Given the description of an element on the screen output the (x, y) to click on. 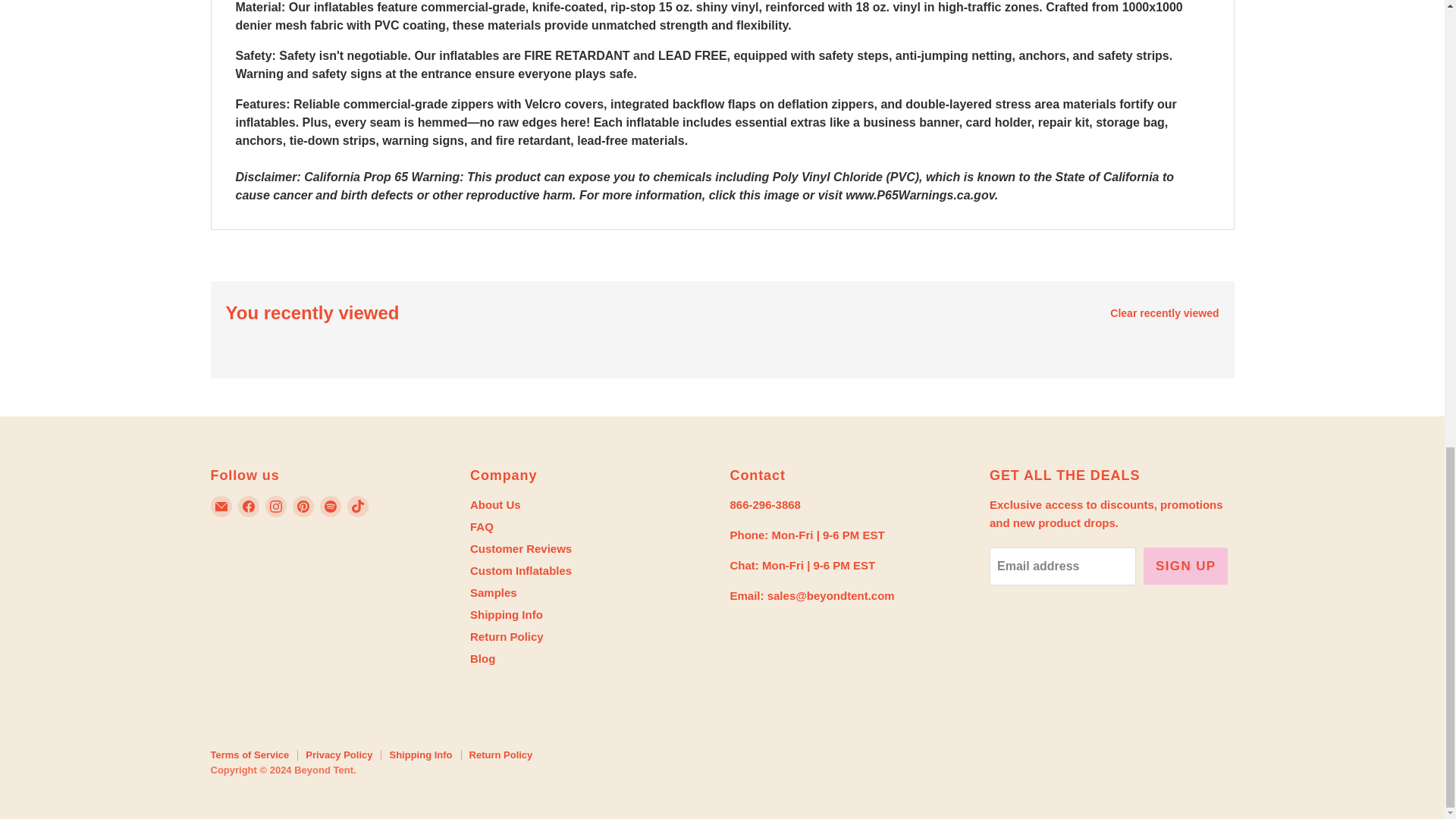
Email (221, 505)
Pinterest (303, 505)
TikTok (357, 505)
Instagram (275, 505)
Facebook (248, 505)
Spotify (330, 505)
